Given the description of an element on the screen output the (x, y) to click on. 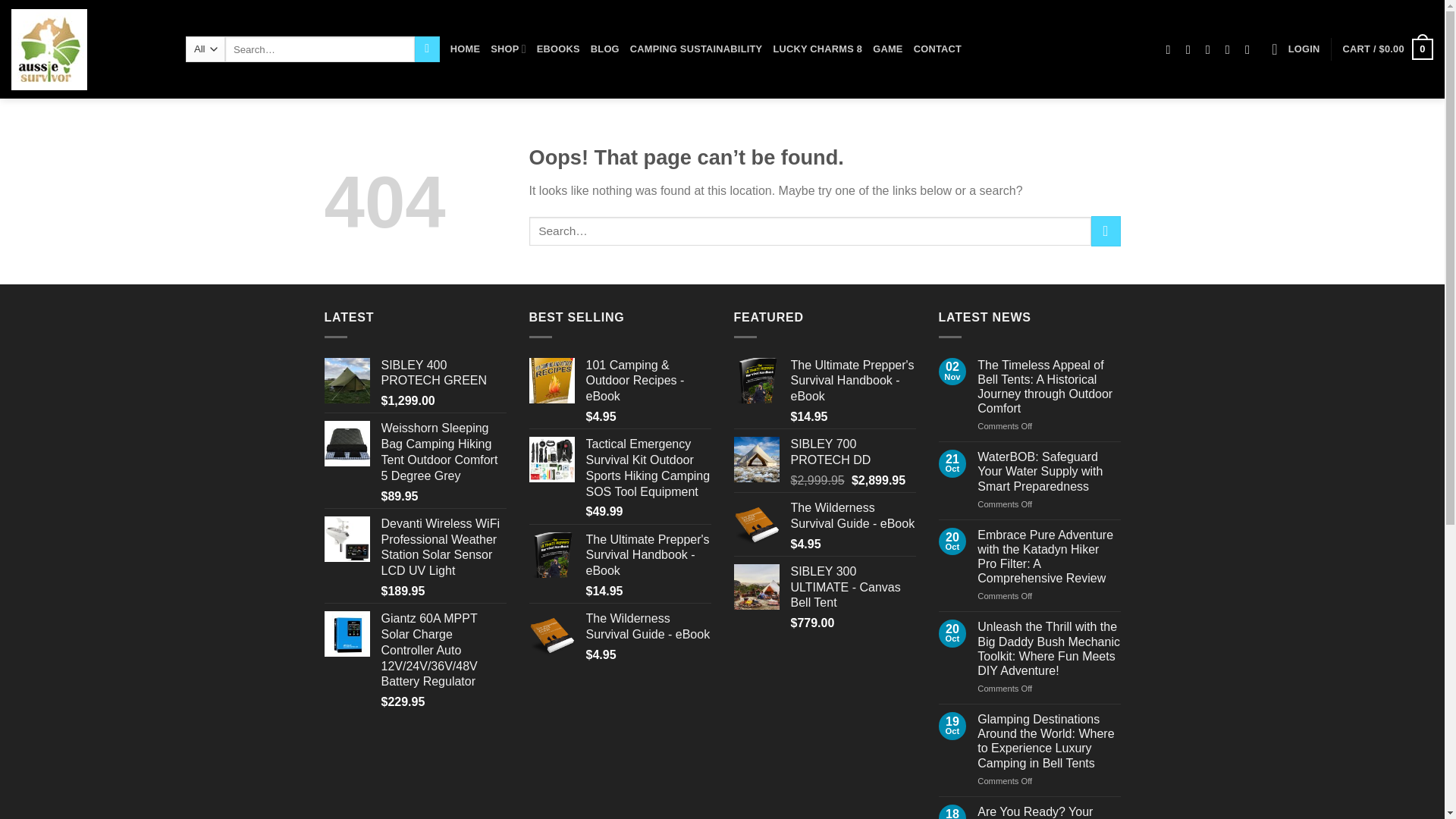
LUCKY CHARMS 8 Element type: text (817, 48)
Follow on Facebook Element type: hover (1172, 49)
Follow on YouTube Element type: hover (1251, 49)
Follow on Instagram Element type: hover (1192, 49)
The Ultimate Prepper's Survival Handbook - eBook Element type: text (647, 555)
SIBLEY 700 PROTECH DD Element type: text (852, 452)
BLOG Element type: text (604, 48)
GAME Element type: text (887, 48)
101 Camping & Outdoor Recipes - eBook Element type: text (647, 380)
The Ultimate Prepper's Survival Handbook - eBook Element type: text (852, 380)
Search Element type: text (426, 49)
CONTACT Element type: text (937, 48)
HOME Element type: text (465, 48)
LOGIN Element type: text (1304, 48)
SHOP Element type: text (508, 48)
CART / $0.00
0 Element type: text (1388, 49)
EBOOKS Element type: text (558, 48)
The Wilderness Survival Guide - eBook Element type: text (647, 627)
SIBLEY 400 PROTECH GREEN Element type: text (442, 373)
SIBLEY 300 ULTIMATE - Canvas Bell Tent Element type: text (852, 587)
Follow on Twitter Element type: hover (1211, 49)
CAMPING SUSTAINABILITY Element type: text (696, 48)
The Wilderness Survival Guide - eBook Element type: text (852, 516)
Follow on Pinterest Element type: hover (1231, 49)
